Given the description of an element on the screen output the (x, y) to click on. 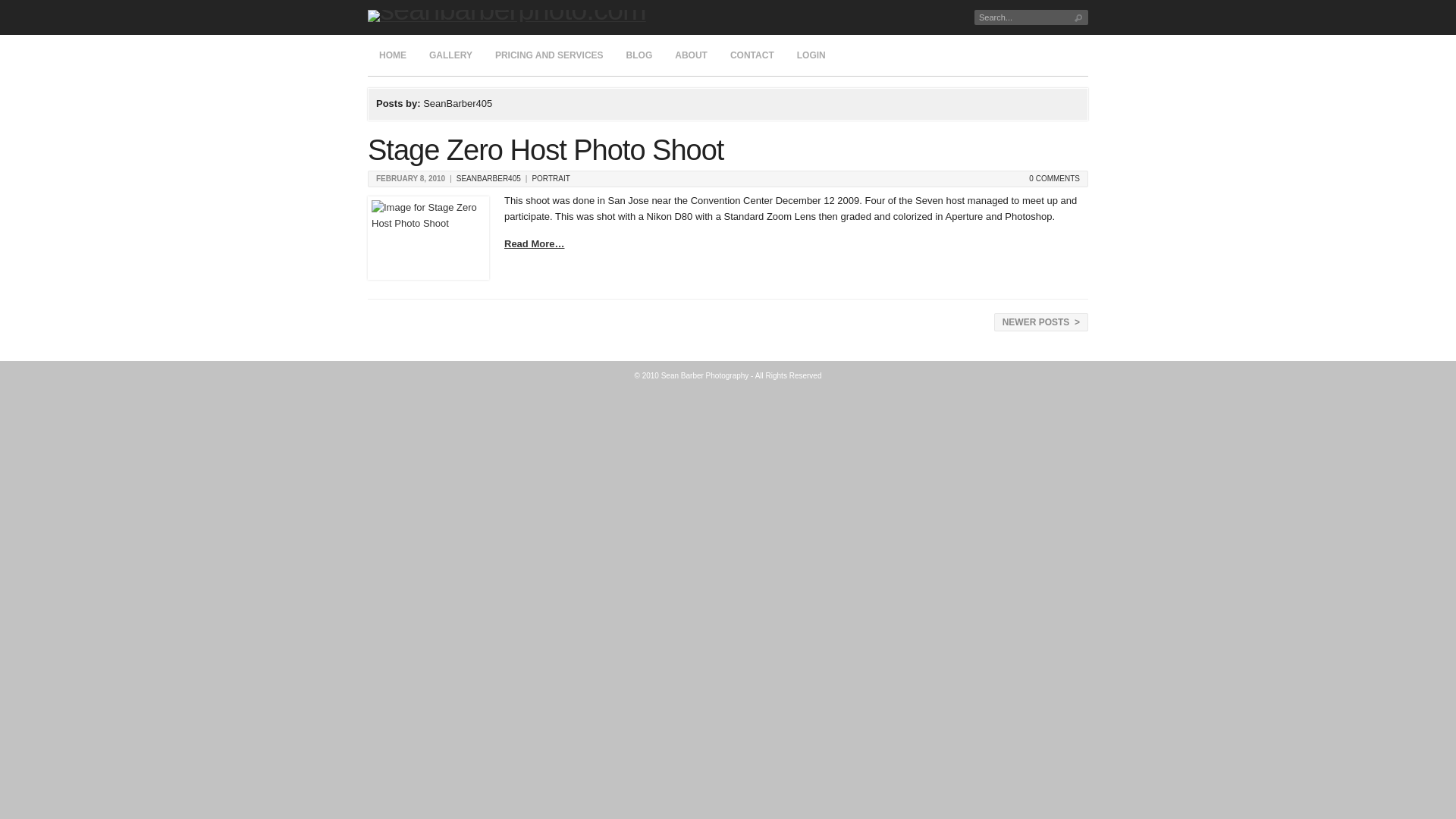
0 COMMENTS (1054, 178)
Search... (1018, 16)
HOME (392, 55)
LOGIN (811, 55)
BLOG (638, 55)
Stage Zero Host Photo Shoot (545, 150)
Visit: Stage Zero Host Photo Shoot (428, 238)
ABOUT (691, 55)
GO (1077, 17)
PRICING AND SERVICES (548, 55)
Posts by SeanBarber405 (489, 178)
GO (1077, 17)
CONTACT (752, 55)
GALLERY (450, 55)
SEANBARBER405 (489, 178)
